Given the description of an element on the screen output the (x, y) to click on. 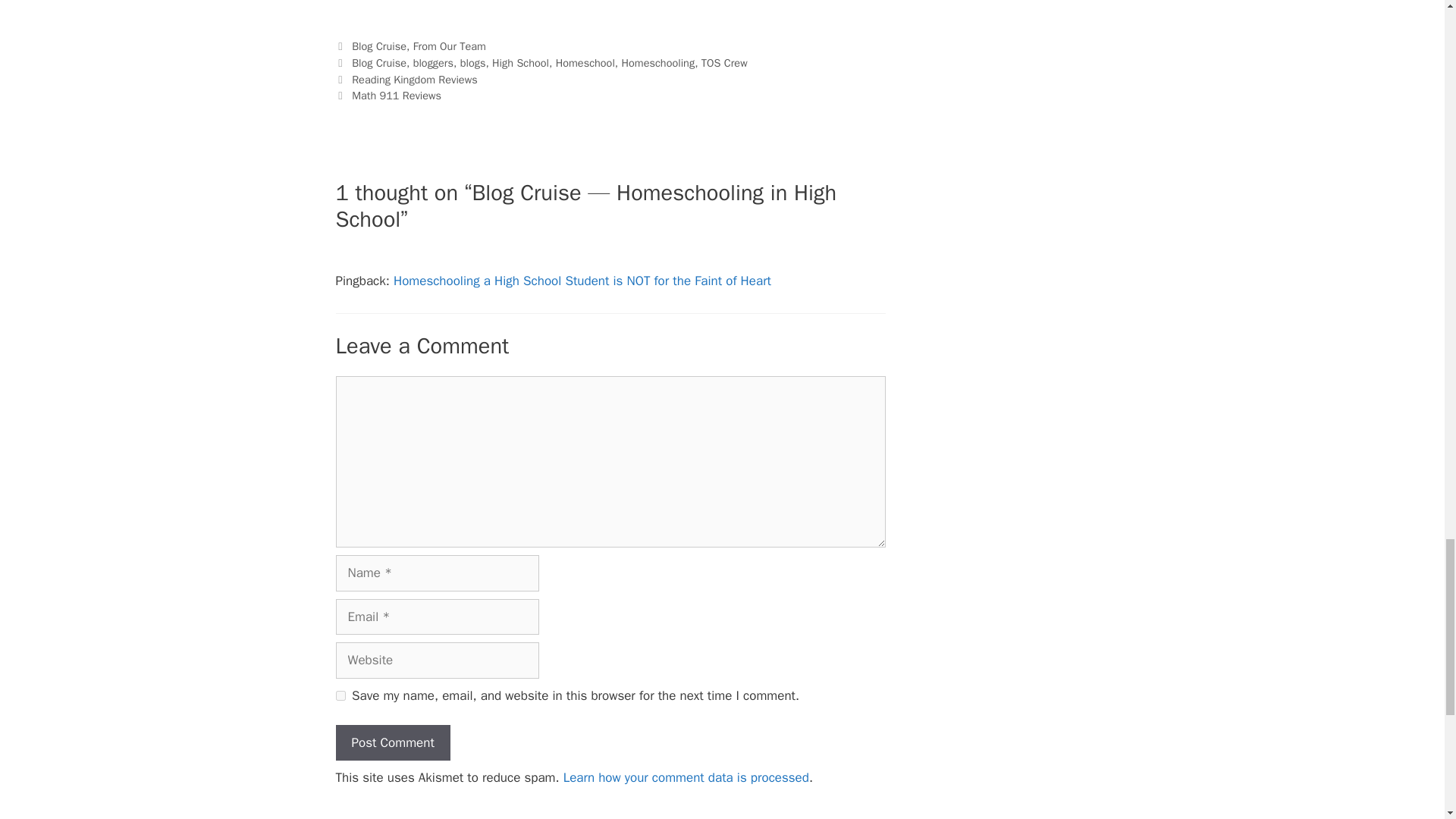
Post Comment (391, 742)
yes (339, 696)
Blog Cruise (379, 46)
High School (520, 62)
Homeschool (585, 62)
Blog Cruise (379, 62)
blogs (473, 62)
bloggers (432, 62)
From Our Team (449, 46)
